Given the description of an element on the screen output the (x, y) to click on. 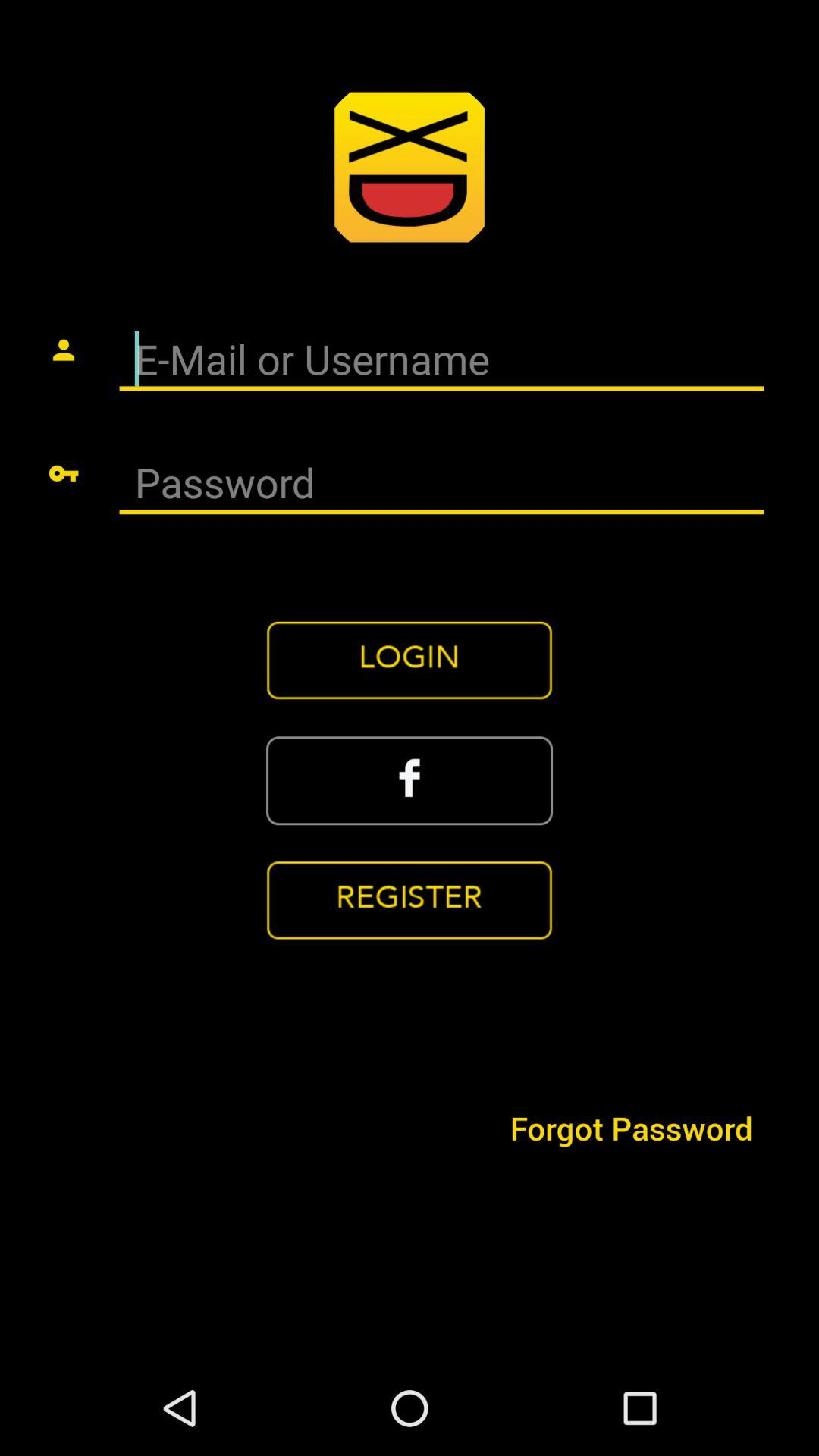
select the forgot password icon (631, 1127)
